Given the description of an element on the screen output the (x, y) to click on. 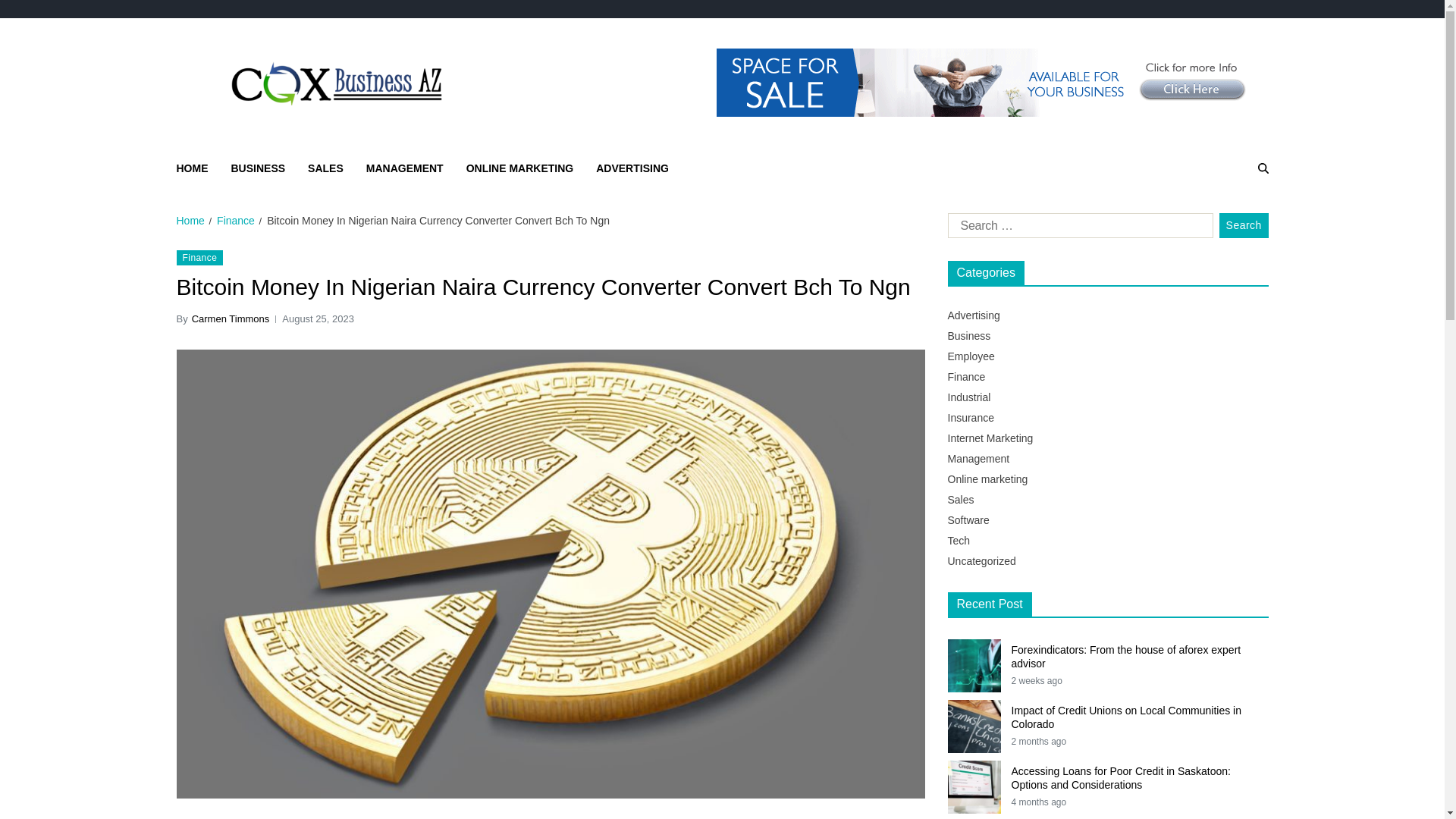
Management (978, 458)
Finance (235, 220)
Finance (966, 377)
Home (189, 220)
MANAGEMENT (405, 168)
Advertising (973, 315)
ONLINE MARKETING (519, 168)
BUSINESS (257, 168)
Search (1227, 221)
Forexindicators: From the house of aforex expert advisor (1139, 656)
Impact of Credit Unions on Local Communities in Colorado (1139, 717)
Search (1244, 225)
Employee (970, 356)
Software (968, 520)
Insurance (970, 417)
